Given the description of an element on the screen output the (x, y) to click on. 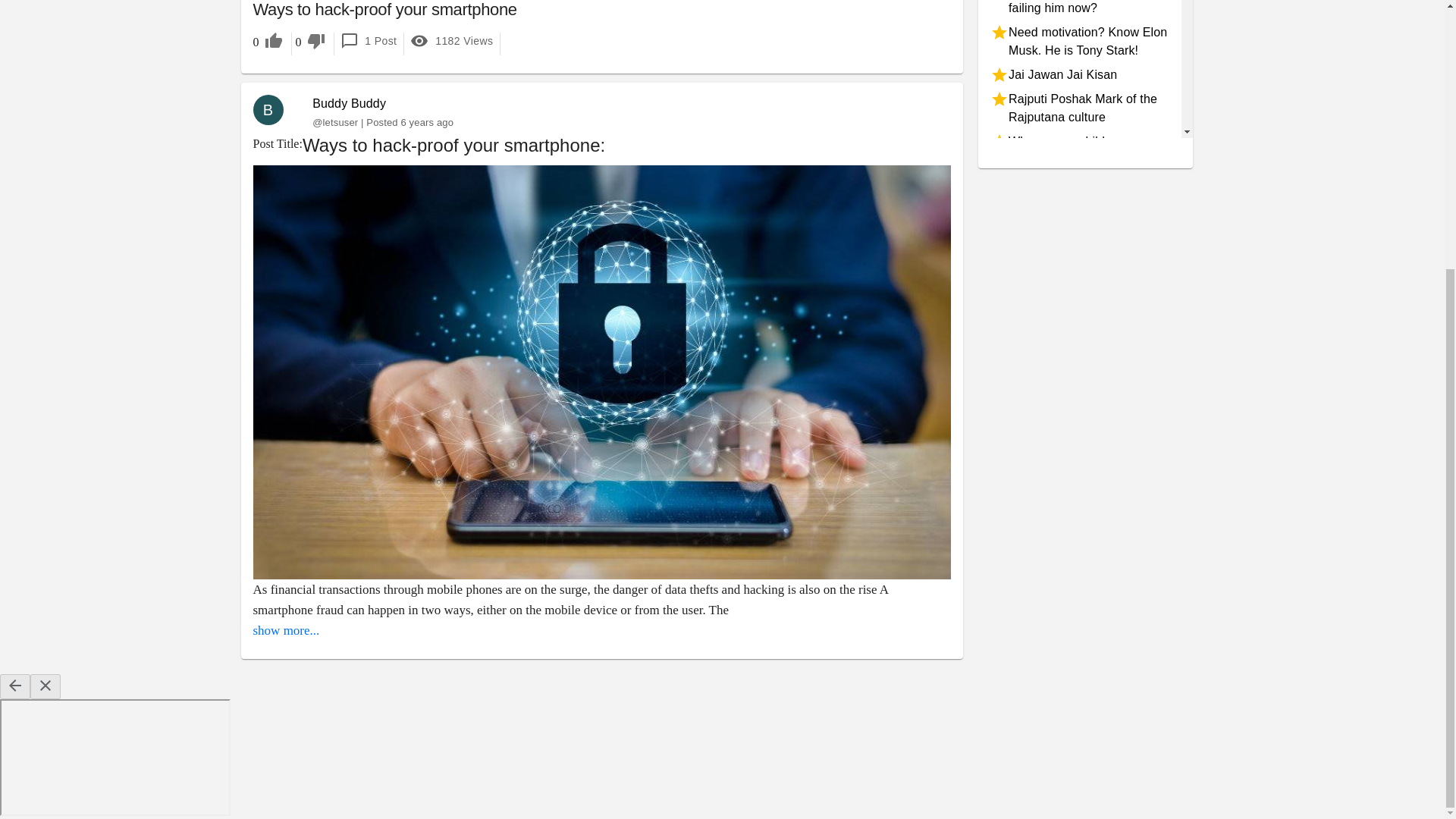
Need motivation? Know Elon Musk. He is Tony Stark! (1079, 41)
Jai Jawan Jai Kisan (1079, 75)
Why are our children condemned to be labourers too? (1079, 159)
show more... (286, 630)
Buddy Buddy (349, 103)
 1182 Views (451, 41)
Rajputi Poshak Mark of the Rajputana culture (1079, 108)
B (274, 110)
 1 Post (368, 41)
